Given the description of an element on the screen output the (x, y) to click on. 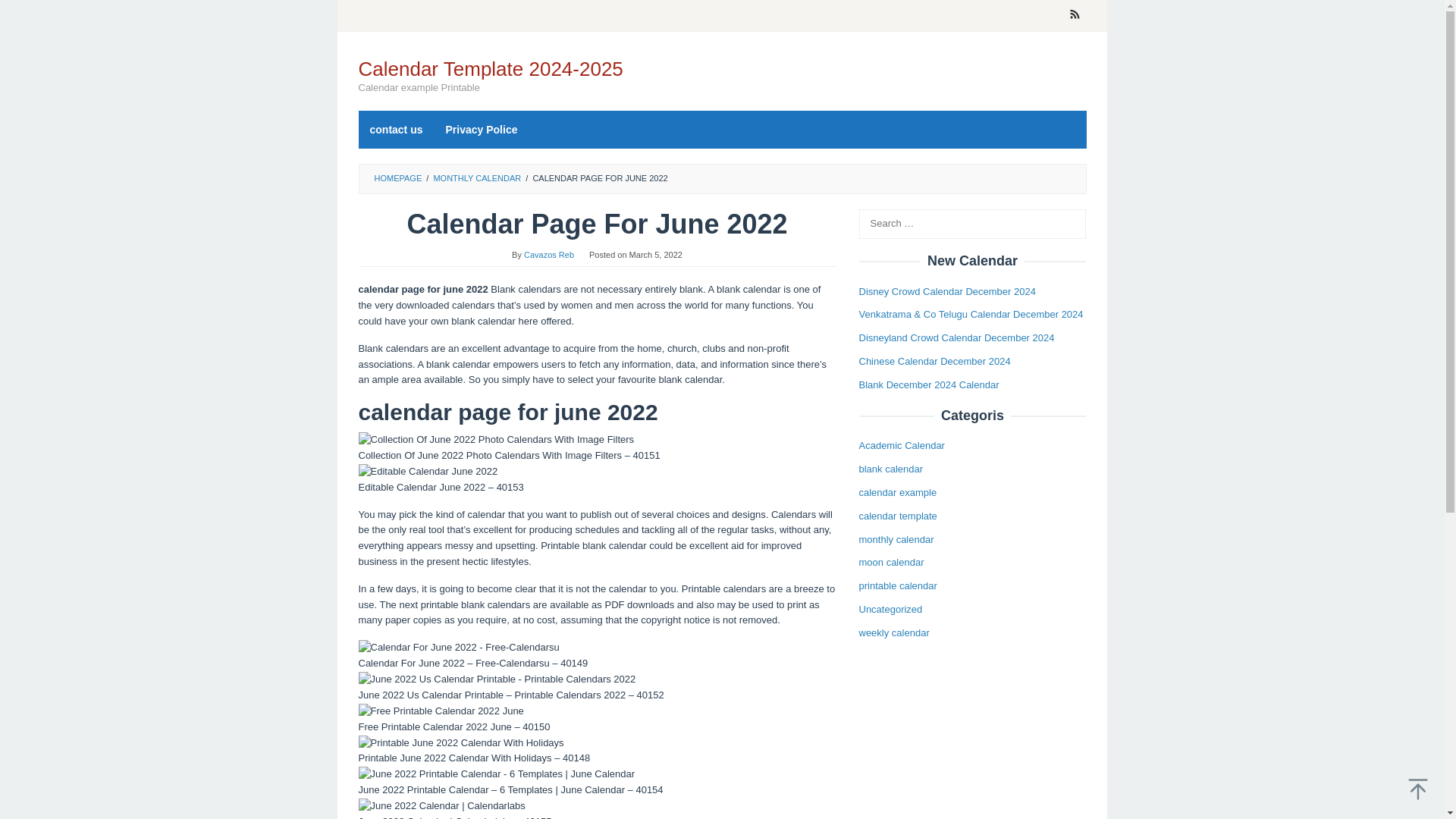
Calendar Template 2024-2025 (490, 68)
Permalink to: Cavazos Reb (548, 254)
Free Printable Calendar 2022 June (440, 711)
monthly calendar (896, 539)
Chinese Calendar December 2024 (934, 360)
weekly calendar (893, 632)
Editable Calendar June 2022 (427, 471)
moon calendar (891, 562)
Calendar Template 2024-2025 (490, 68)
Collection Of June 2022 Photo Calendars With Image Filters (495, 439)
